Given the description of an element on the screen output the (x, y) to click on. 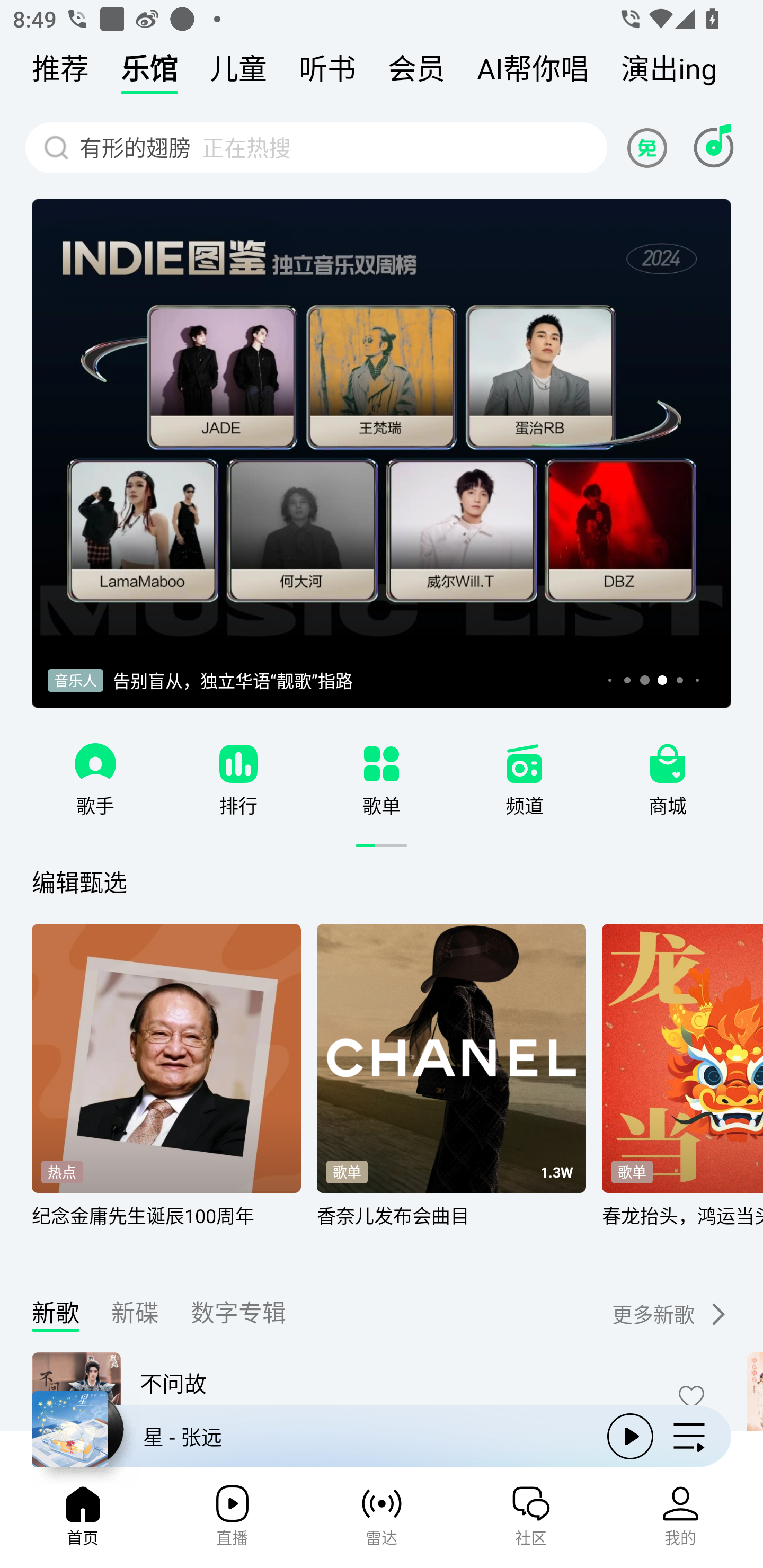
推荐 (60, 73)
乐馆 (149, 73)
儿童 (238, 73)
听书 (327, 73)
会员 (416, 73)
AI帮你唱 (532, 73)
演出ing (668, 73)
搜索 有形的翅膀正在热搜 有形的翅膀 正在热搜 (316, 147)
看广告免费听歌 (649, 146)
听歌识曲 (713, 146)
歌手 (95, 804)
排行 (238, 804)
歌单 (381, 804)
频道 (524, 804)
商城 (667, 804)
编辑甄选 (79, 881)
1.3W (556, 1172)
热点 (61, 1171)
歌单 (346, 1171)
歌单 (632, 1171)
纪念金庸先生诞辰100周年 (166, 1226)
香奈儿发布会曲目 (450, 1226)
春龙抬头，鸿运当头 (682, 1226)
新歌 (55, 1316)
新碟 (134, 1316)
数字专辑 (238, 1316)
更多新歌 (656, 1313)
更多 (716, 1313)
不问故 (395, 1382)
收藏 (691, 1396)
星 - 张远 (311, 1435)
播放 (630, 1435)
歌曲队列 (688, 1435)
首页 (82, 1521)
直播 (231, 1521)
雷达 (381, 1521)
社区 (530, 1521)
我的 (680, 1521)
